Given the description of an element on the screen output the (x, y) to click on. 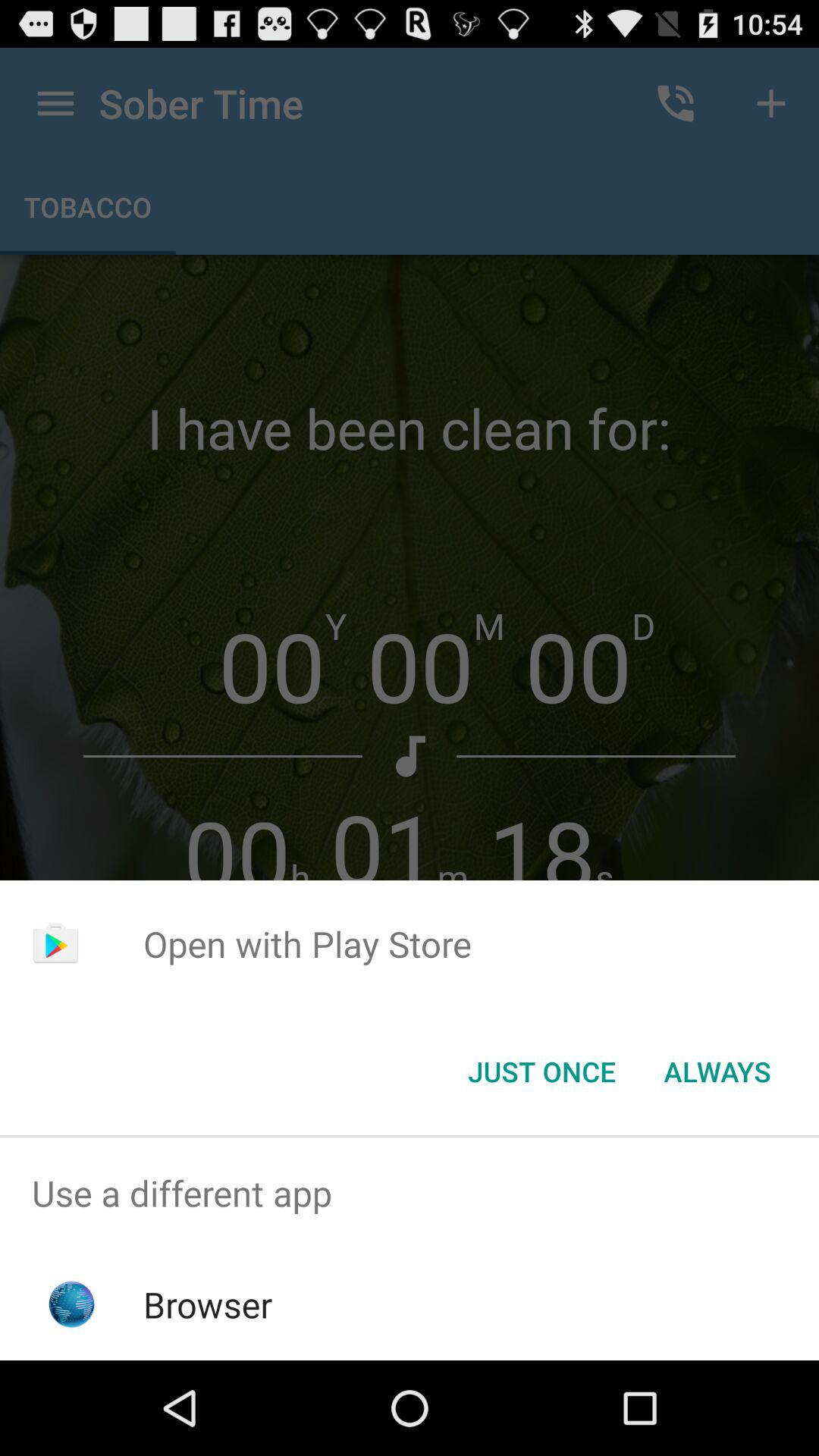
turn off the always (717, 1071)
